Given the description of an element on the screen output the (x, y) to click on. 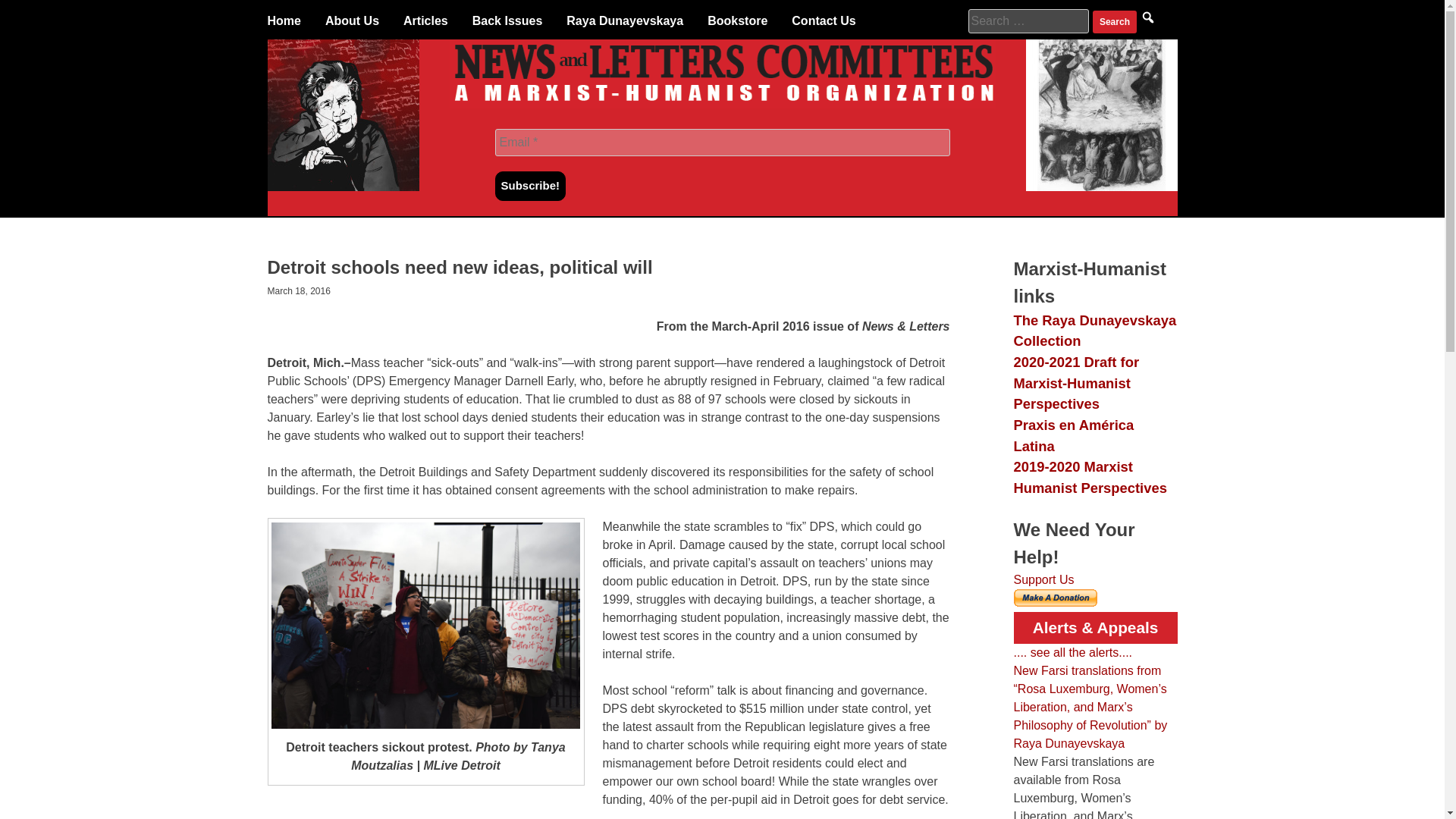
Subscribe! (530, 185)
Raya Dunayevskaya (624, 21)
2019-2020 Marxist Humanist Perspectives (1089, 477)
About Us (351, 21)
Support Us (1043, 579)
Home (282, 21)
Contact Us (824, 21)
Search (1115, 21)
Subscribe! (530, 185)
Search (1115, 21)
Articles (425, 21)
The Raya Dunayevskaya Collection (1094, 330)
News and Letters Committees (722, 103)
Email (722, 142)
